Given the description of an element on the screen output the (x, y) to click on. 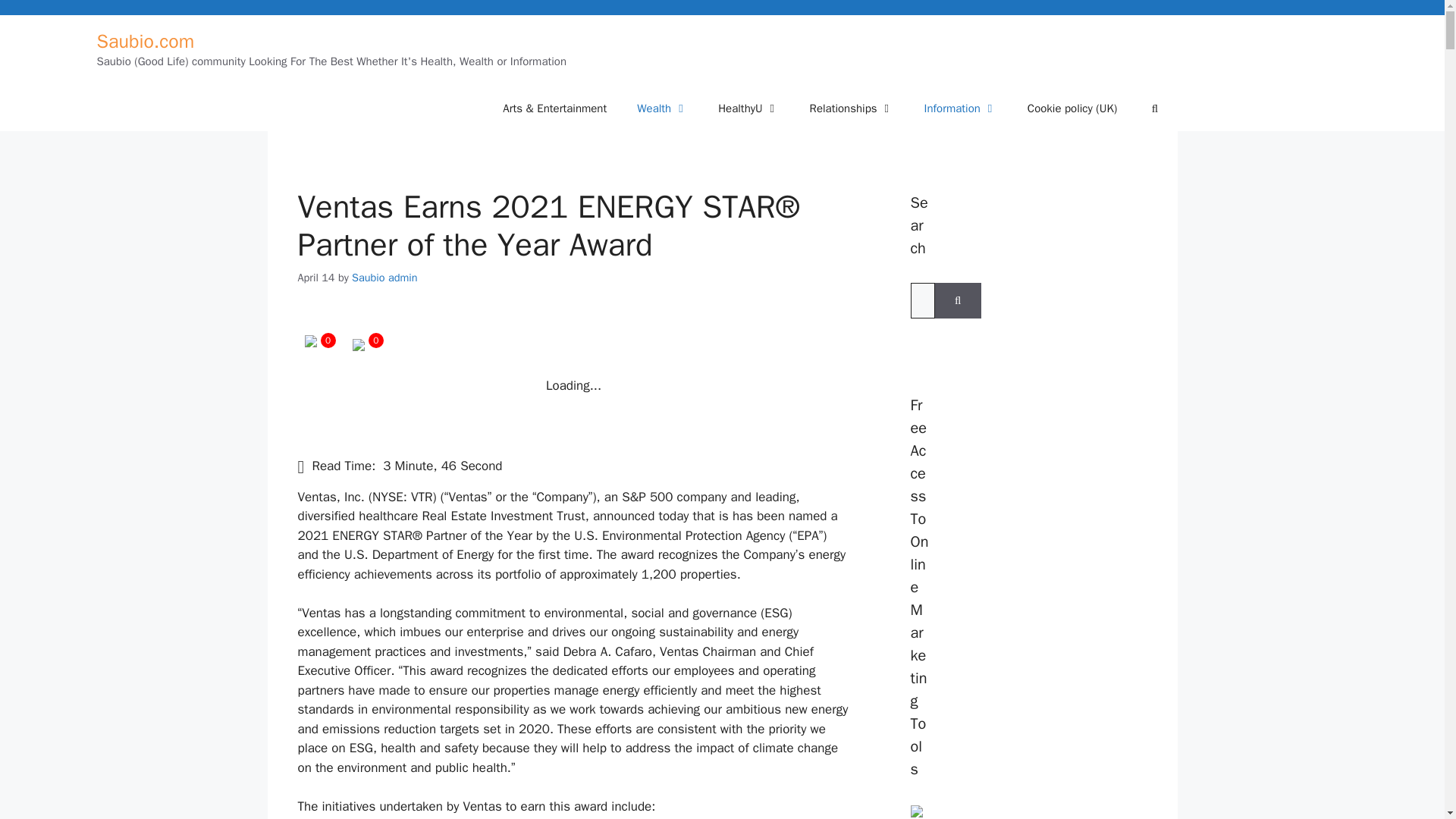
View all posts by Saubio admin (384, 276)
Information (959, 107)
Wealth (662, 107)
HealthyU (748, 107)
Relationships (851, 107)
Saubio admin (384, 276)
Saubio.com (146, 41)
